Given the description of an element on the screen output the (x, y) to click on. 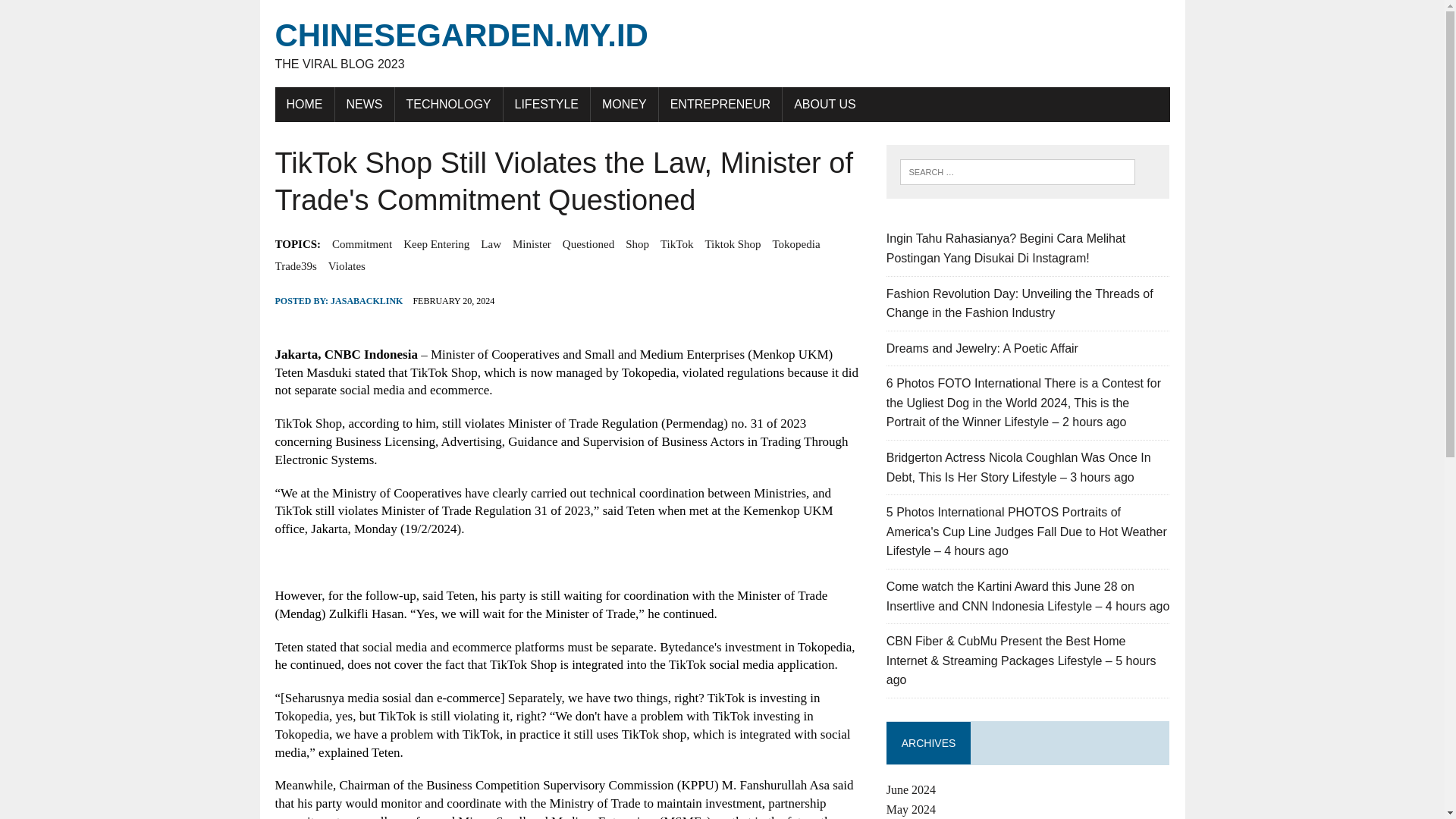
Law (490, 244)
Dreams and Jewelry: A Poetic Affair (982, 348)
Keep Entering (435, 244)
TECHNOLOGY (448, 104)
TikTok (677, 244)
LIFESTYLE (546, 104)
JASABACKLINK (366, 300)
MONEY (722, 43)
Questioned (624, 104)
